Given the description of an element on the screen output the (x, y) to click on. 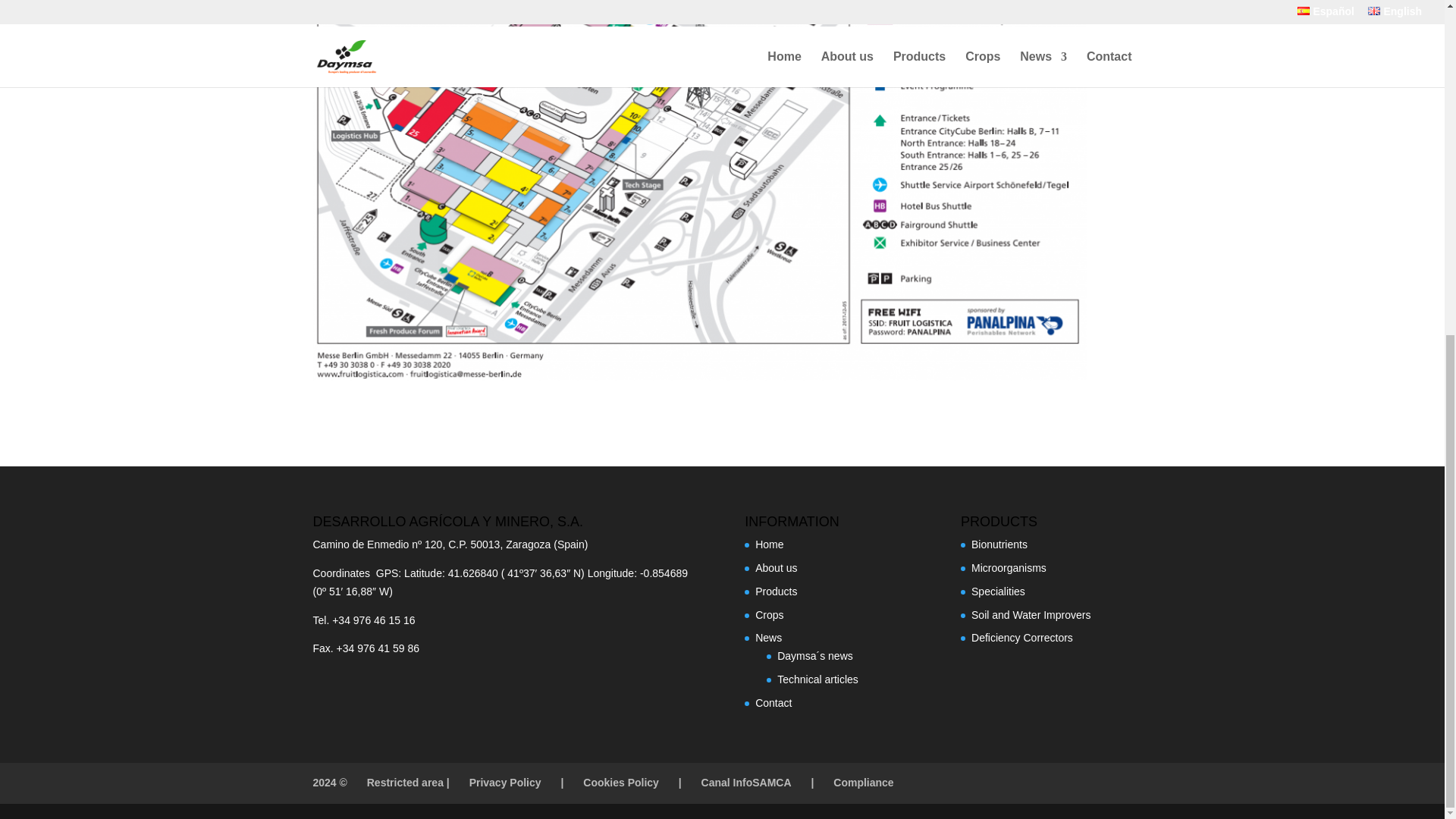
About us (775, 567)
News (768, 637)
Specialities (998, 591)
Technical articles (818, 679)
Products (775, 591)
Home (769, 544)
Soil and Water Improvers (1030, 614)
Deficiency Correctors (1022, 637)
Privacy Policy (504, 782)
Microorganisms (1008, 567)
Bionutrients (999, 544)
Crops (769, 614)
Contact (773, 702)
